Given the description of an element on the screen output the (x, y) to click on. 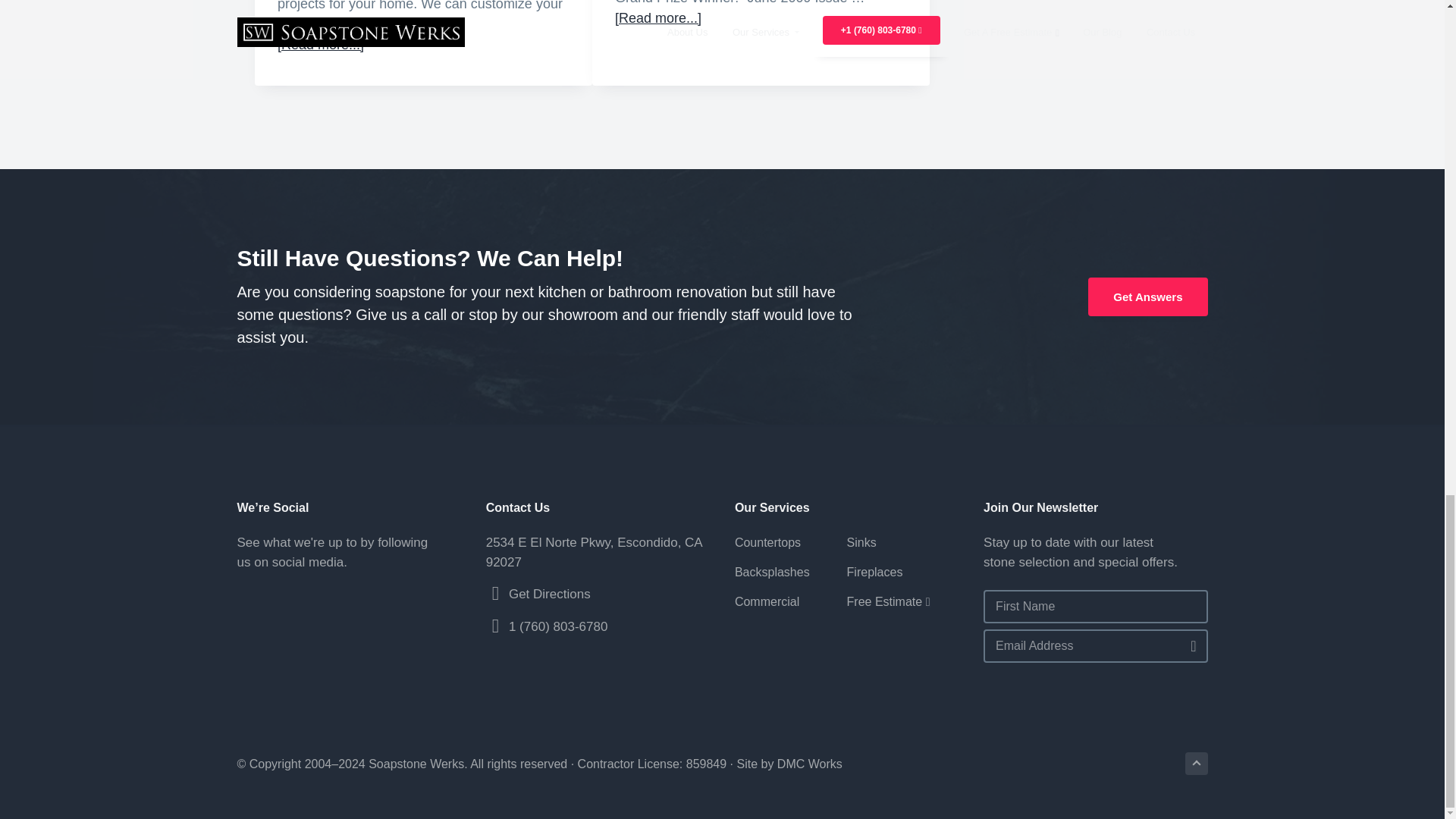
Go (1188, 645)
